Given the description of an element on the screen output the (x, y) to click on. 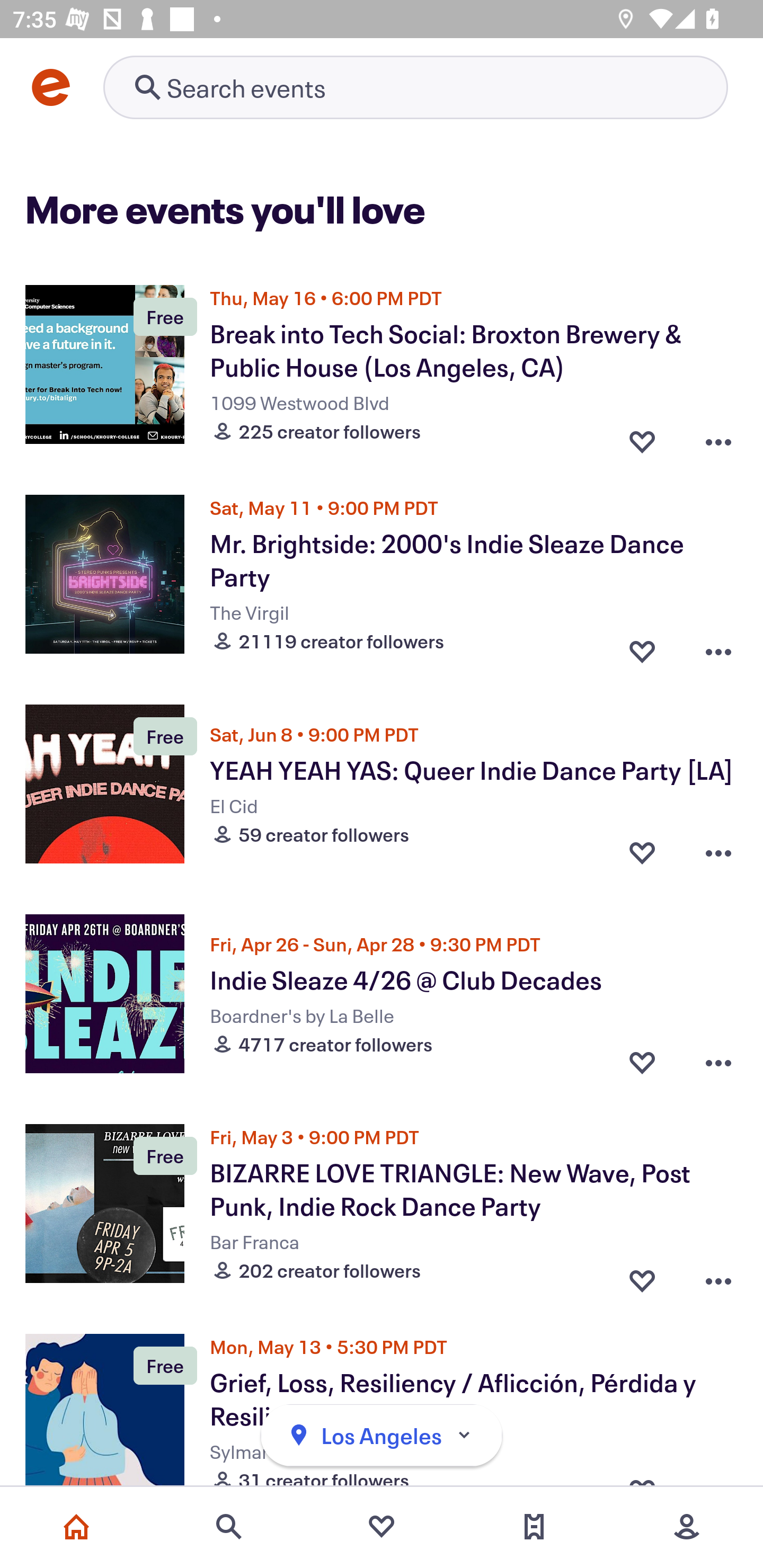
Retry's image Search events (415, 86)
Favorite button (642, 436)
Overflow menu button (718, 436)
Favorite button (642, 646)
Overflow menu button (718, 646)
Favorite button (642, 852)
Overflow menu button (718, 852)
Favorite button (642, 1062)
Overflow menu button (718, 1062)
Favorite button (642, 1275)
Overflow menu button (718, 1275)
Los Angeles (381, 1435)
Home (76, 1526)
Search events (228, 1526)
Favorites (381, 1526)
Tickets (533, 1526)
More (686, 1526)
